Given the description of an element on the screen output the (x, y) to click on. 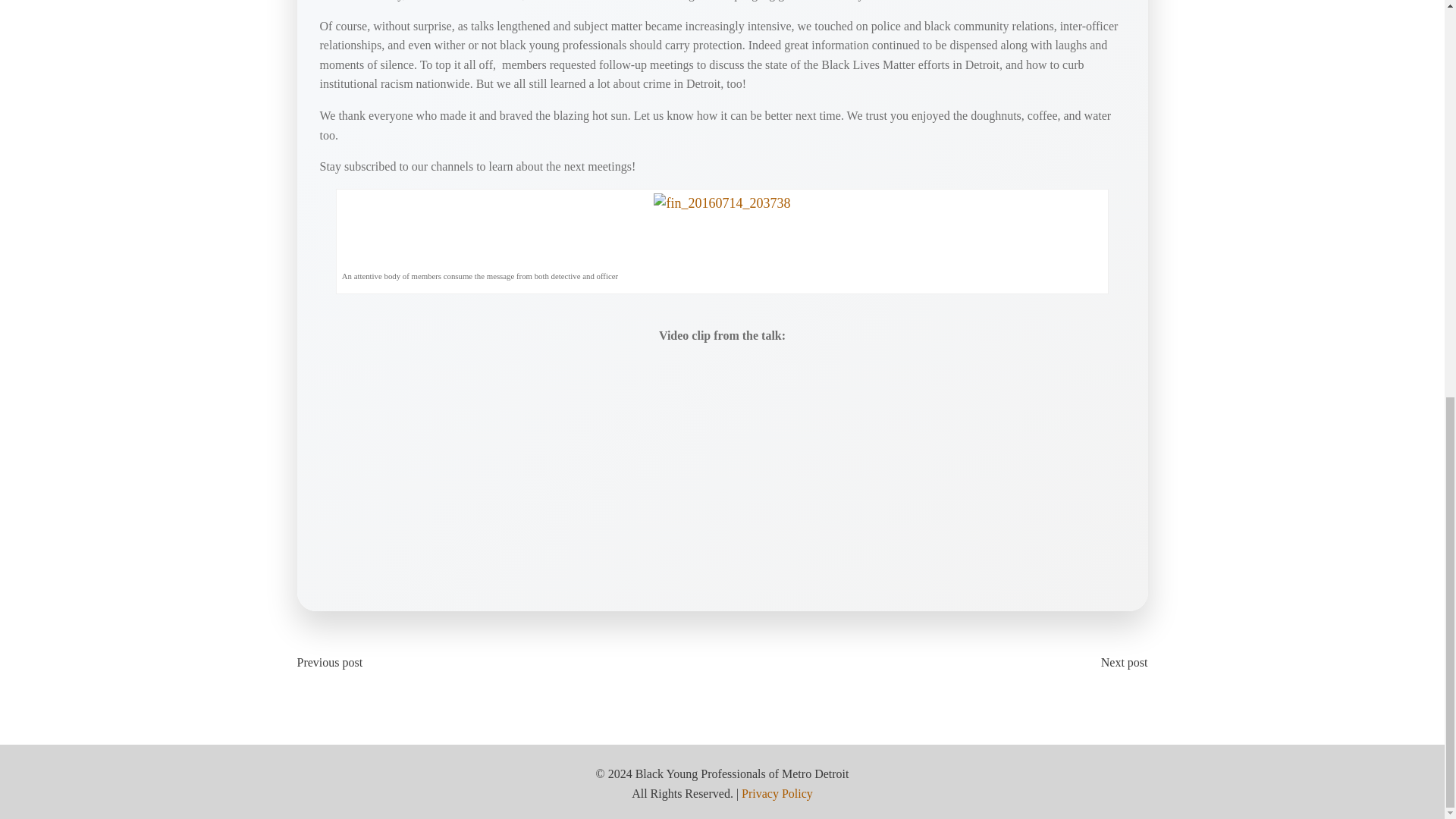
Previous post (334, 662)
Next post (1120, 662)
Privacy Policy (776, 793)
Crime Report: Detroit (509, 463)
